Given the description of an element on the screen output the (x, y) to click on. 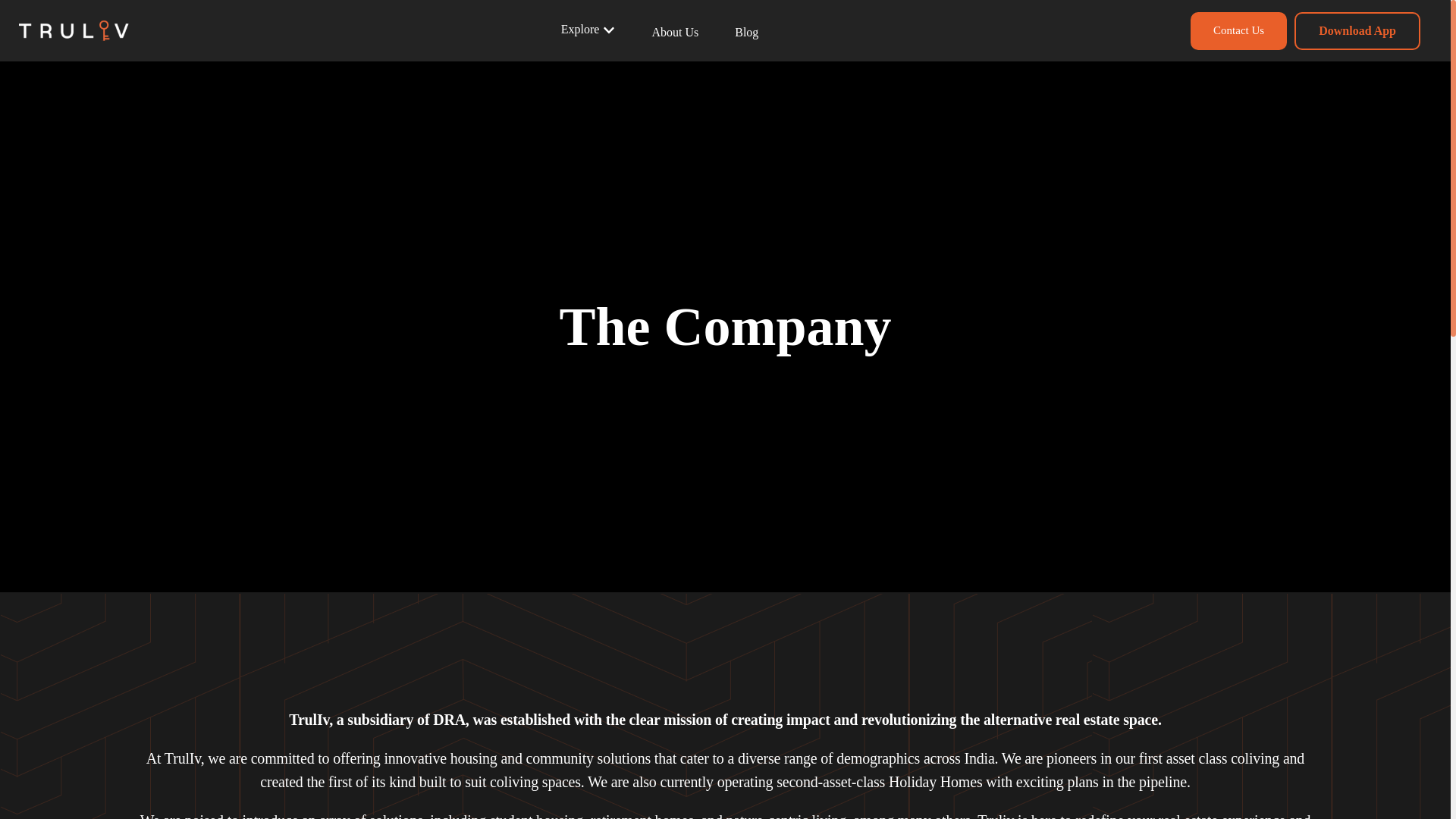
Download App (1357, 30)
Co Living (580, 51)
About Us (674, 31)
Contact Us (1239, 30)
Blog (746, 31)
